Given the description of an element on the screen output the (x, y) to click on. 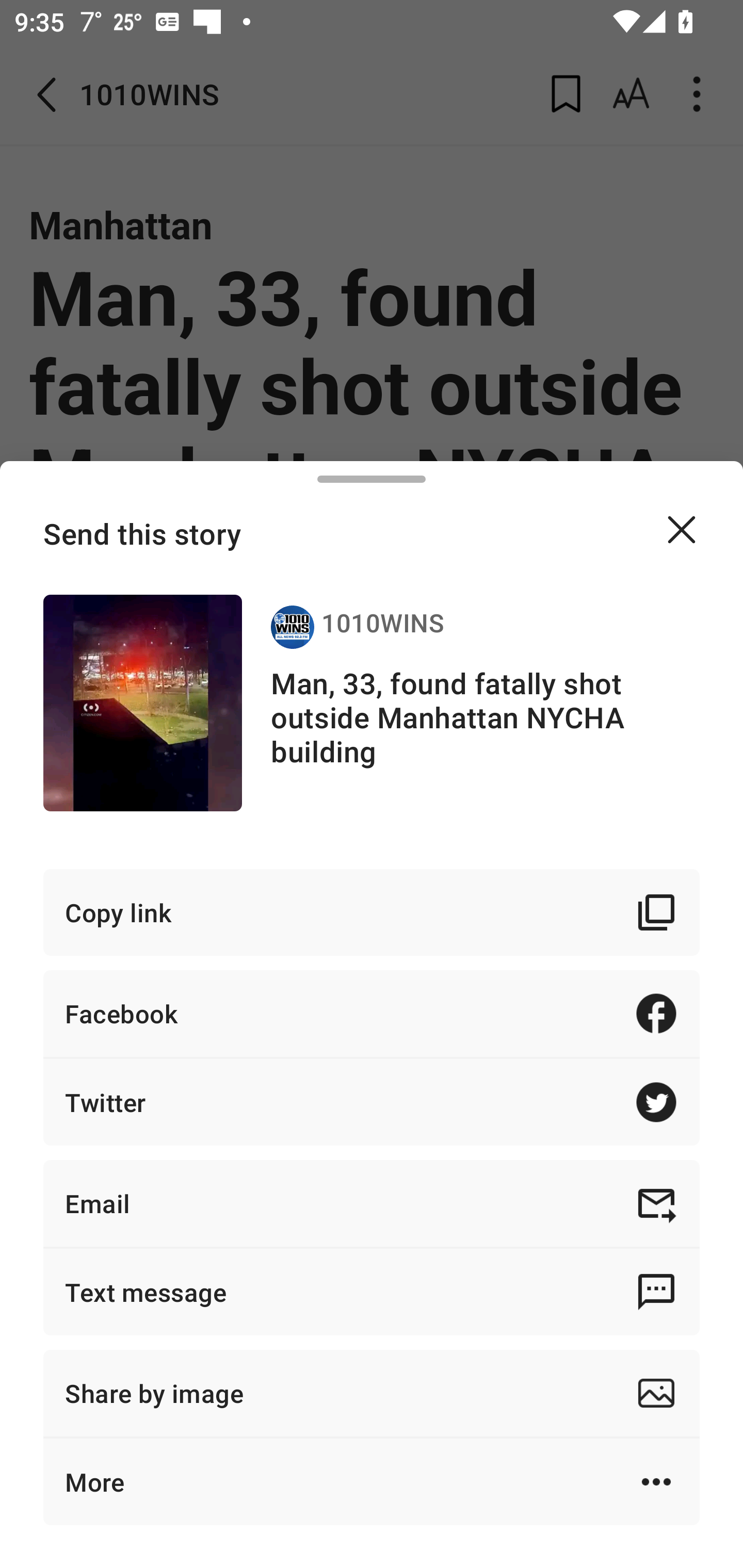
Copy link (371, 912)
Facebook (371, 1013)
Twitter (371, 1102)
Email (371, 1203)
Text message (371, 1291)
Share by image (371, 1393)
More (371, 1481)
